Given the description of an element on the screen output the (x, y) to click on. 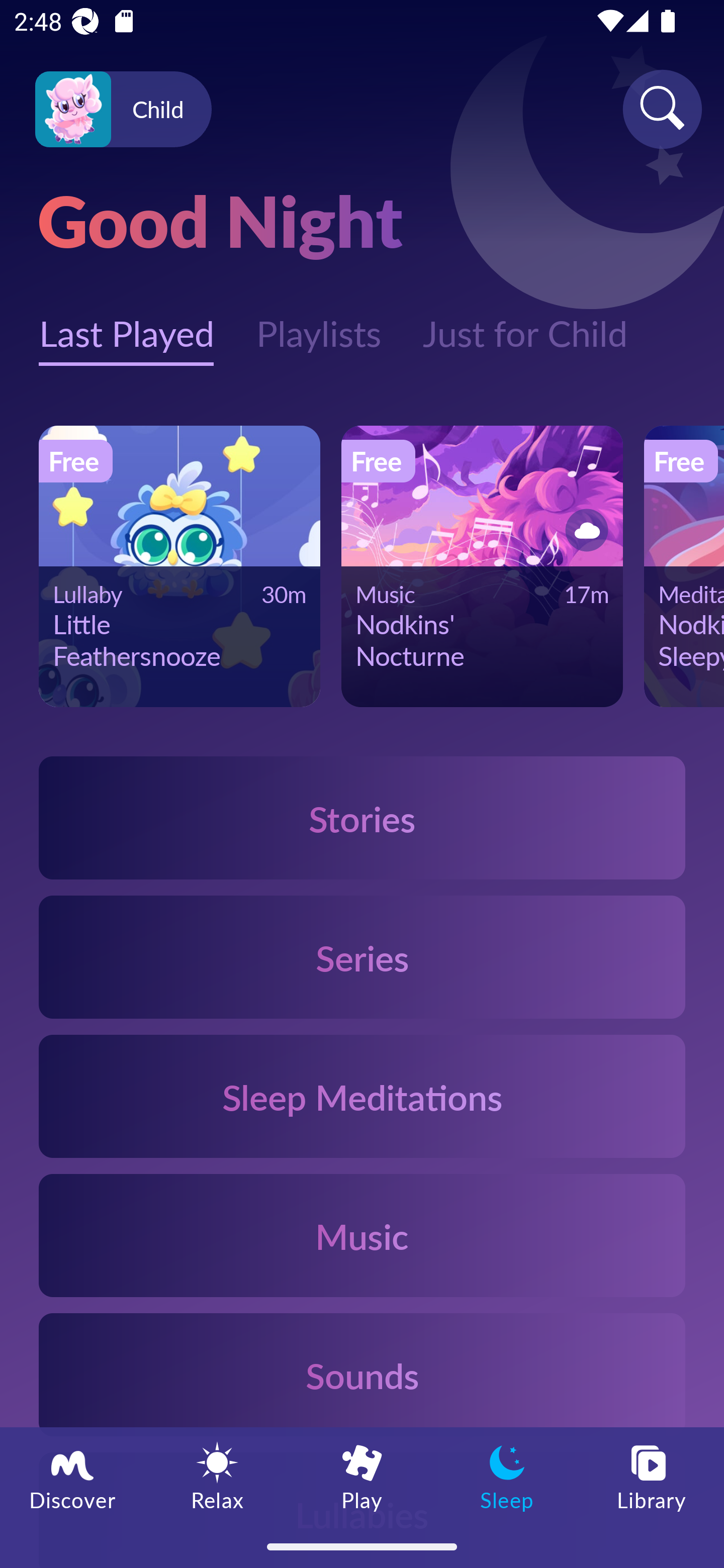
Profile icon Child (123, 109)
Playlists (317, 322)
Just for Child (524, 322)
Button (583, 529)
Stories (361, 817)
Series (361, 957)
Sleep Meditations (361, 1096)
Music (361, 1234)
Sounds (361, 1374)
Discover (72, 1475)
Relax (216, 1475)
Play (361, 1475)
Library (651, 1475)
